Given the description of an element on the screen output the (x, y) to click on. 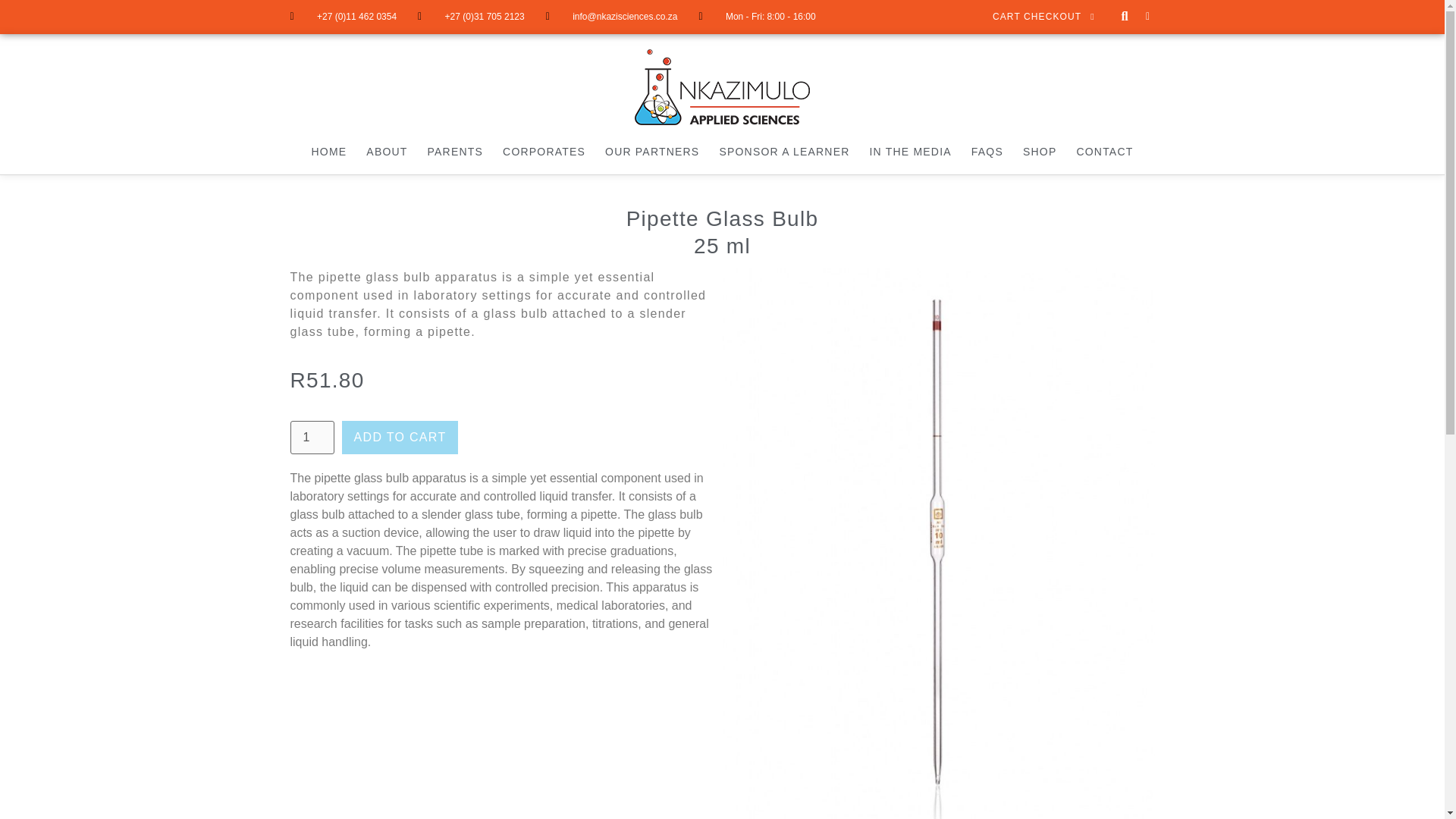
IN THE MEDIA (910, 151)
CART CHECKOUT (1043, 16)
HOME (328, 151)
CORPORATES (544, 151)
PARENTS (455, 151)
OUR PARTNERS (652, 151)
1 (311, 437)
SPONSOR A LEARNER (784, 151)
FAQS (986, 151)
SHOP (1039, 151)
CONTACT (1103, 151)
ABOUT (386, 151)
